Given the description of an element on the screen output the (x, y) to click on. 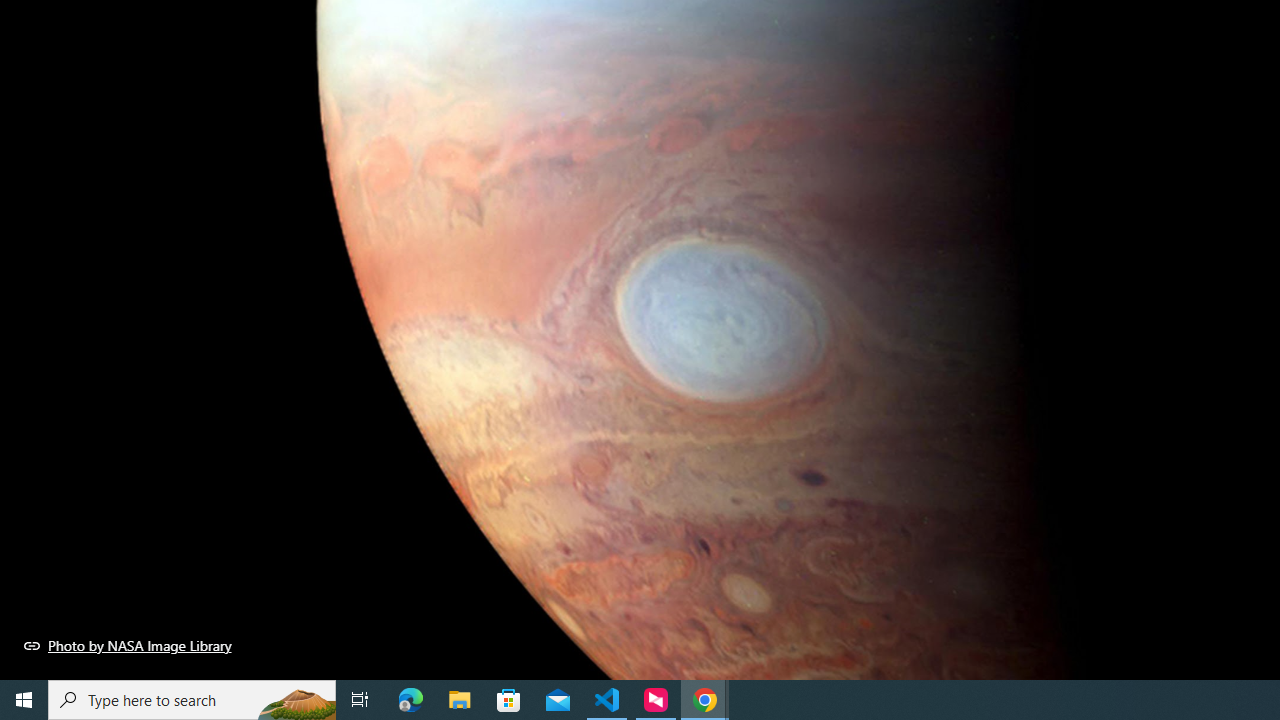
Photo by NASA Image Library (127, 645)
